Given the description of an element on the screen output the (x, y) to click on. 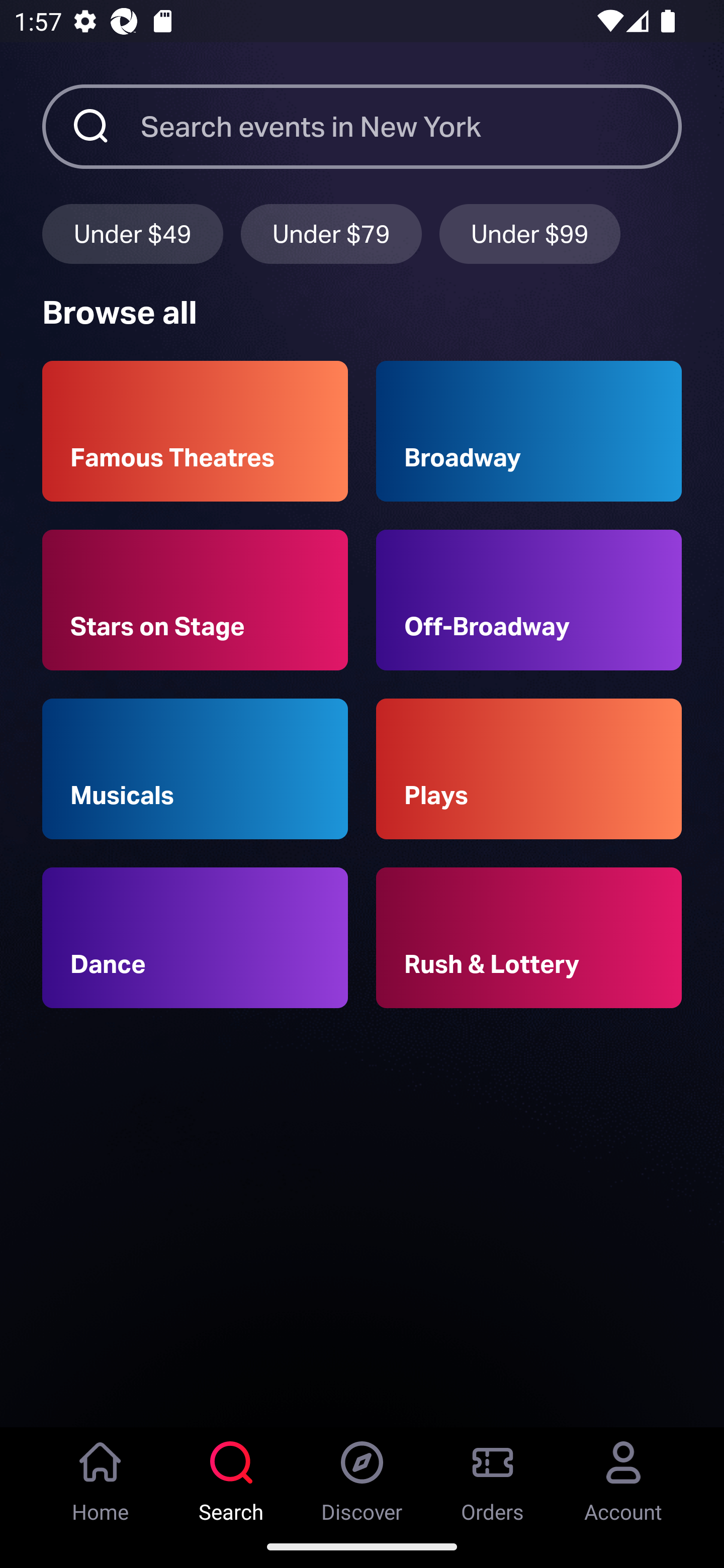
Search events in New York (411, 126)
Under $49 (131, 233)
Under $79 (331, 233)
Under $99 (529, 233)
Famous Theatres (194, 430)
Broadway (528, 430)
Stars on Stage (194, 600)
Off-Broadway (528, 600)
Musicals (194, 768)
Plays (528, 768)
Dance (194, 937)
Rush & Lottery (528, 937)
Home (100, 1475)
Discover (361, 1475)
Orders (492, 1475)
Account (623, 1475)
